Given the description of an element on the screen output the (x, y) to click on. 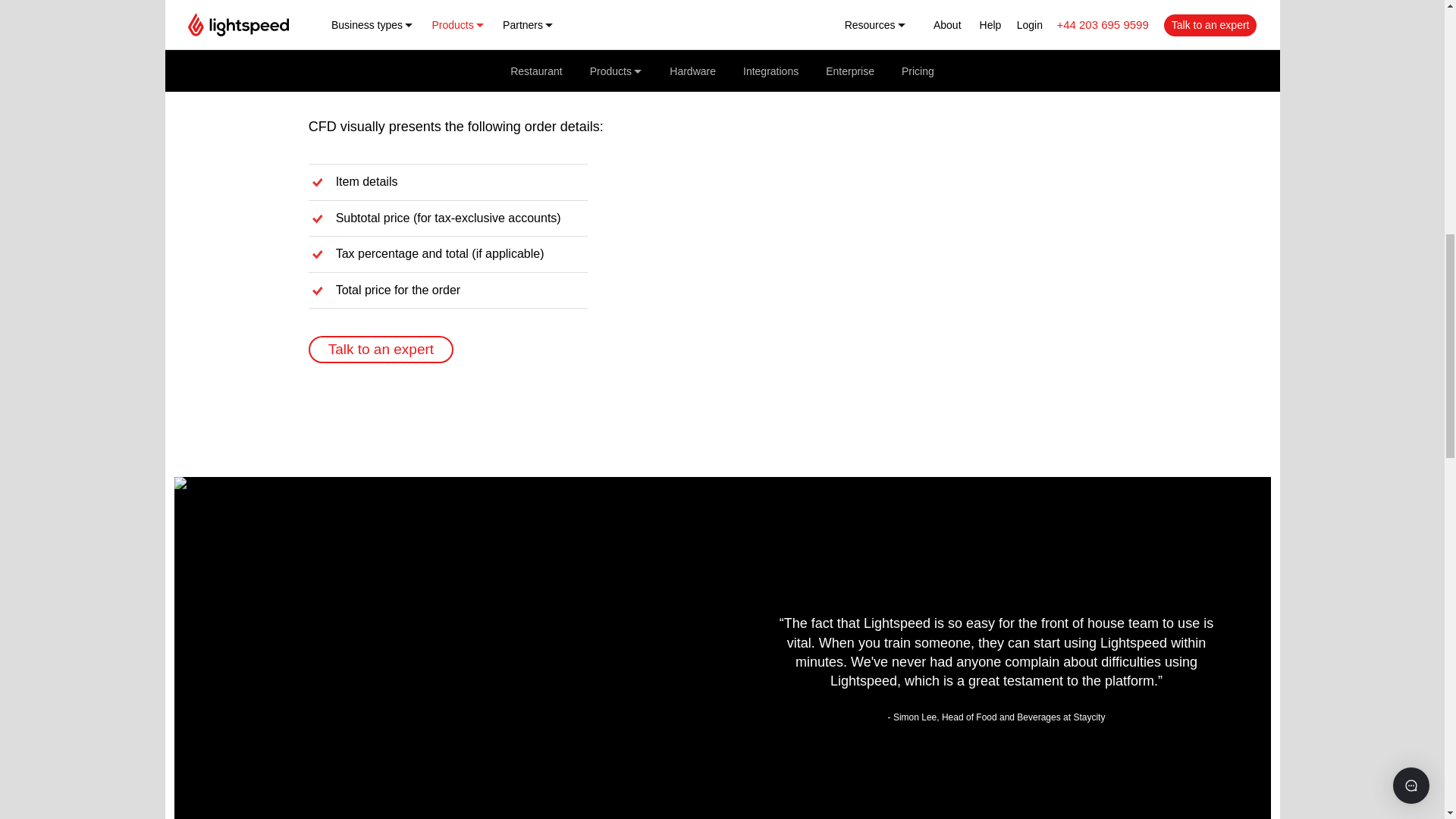
Talk to an expert (380, 349)
